Given the description of an element on the screen output the (x, y) to click on. 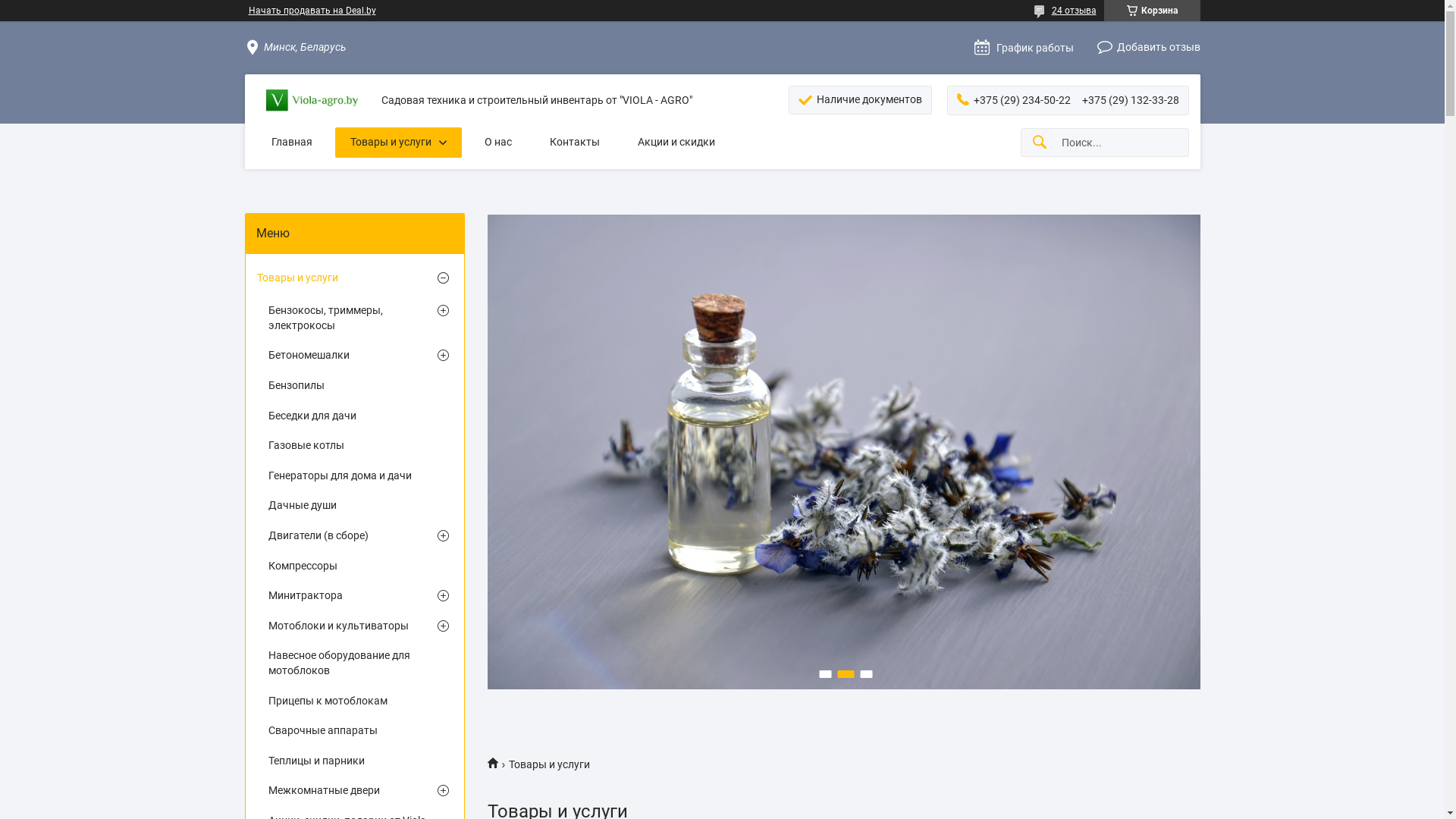
Viola-agro Element type: hover (497, 762)
Viola-Agro Element type: hover (313, 100)
